Given the description of an element on the screen output the (x, y) to click on. 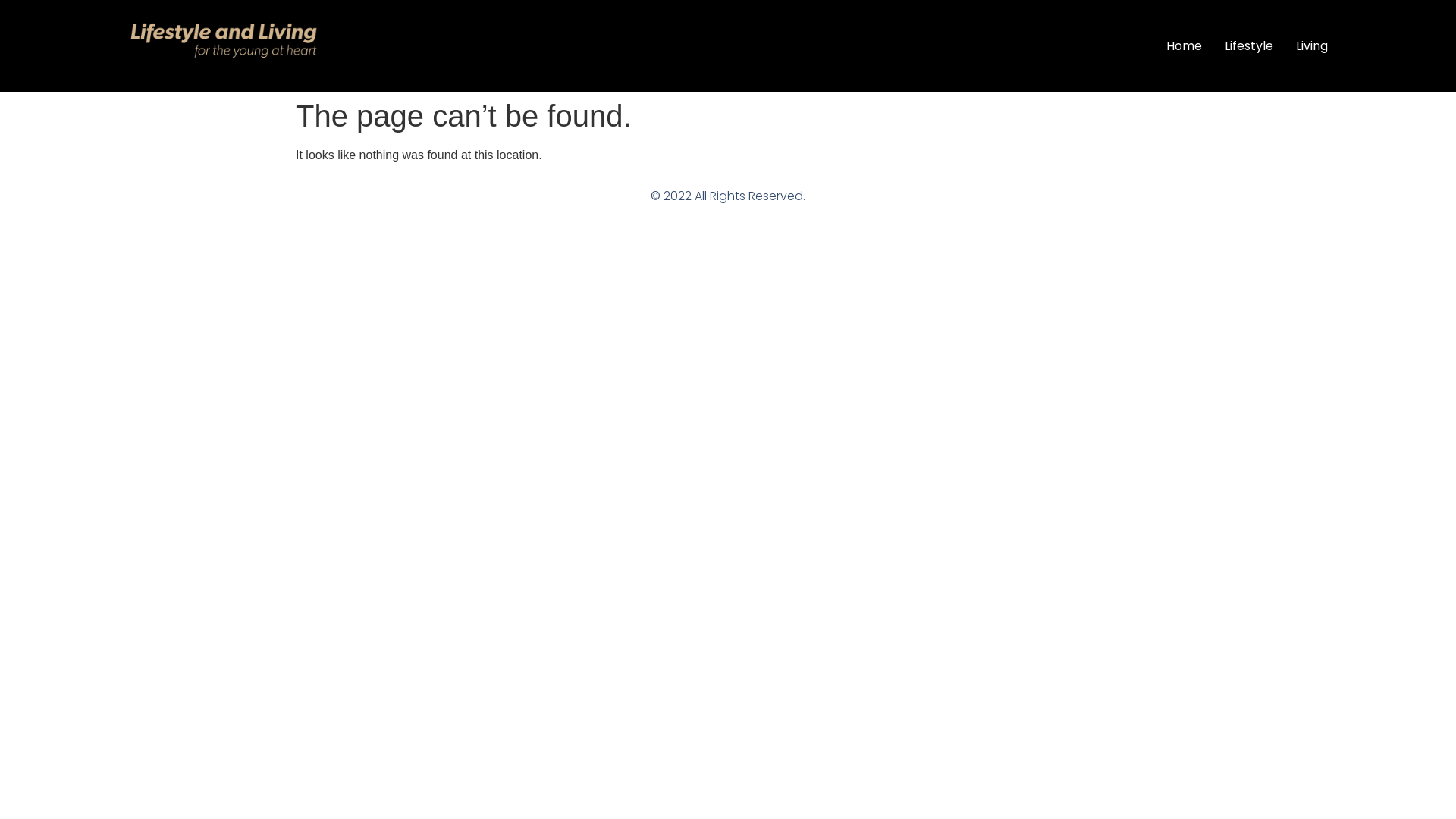
Living Element type: text (1311, 45)
Lifestyle Element type: text (1248, 45)
Home Element type: text (1183, 45)
